Given the description of an element on the screen output the (x, y) to click on. 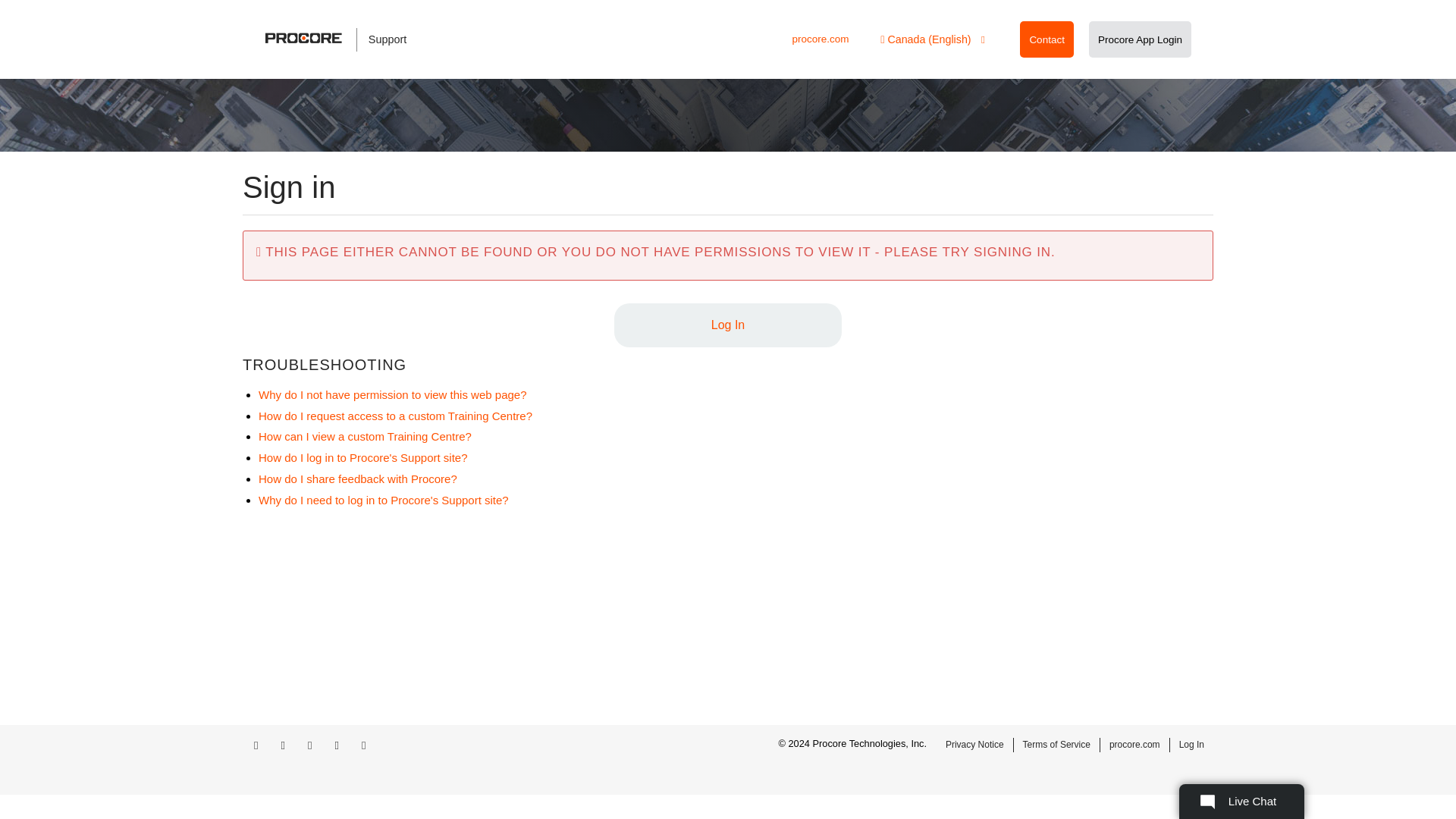
Why do I not have permission to view this web page? (393, 394)
Procore App Login (1139, 39)
How do I share feedback with Procore? (358, 478)
How do I request access to a custom Training Centre? (395, 415)
Why do I not have permission to view this web page? (393, 394)
Why do I need to log in to Procore's Support site? (383, 499)
How do I log in to Procore's Support site? (363, 457)
How do I share feedback with Procore? (358, 478)
How can I view a custom Training Centre? (365, 436)
procore.com (820, 39)
